Given the description of an element on the screen output the (x, y) to click on. 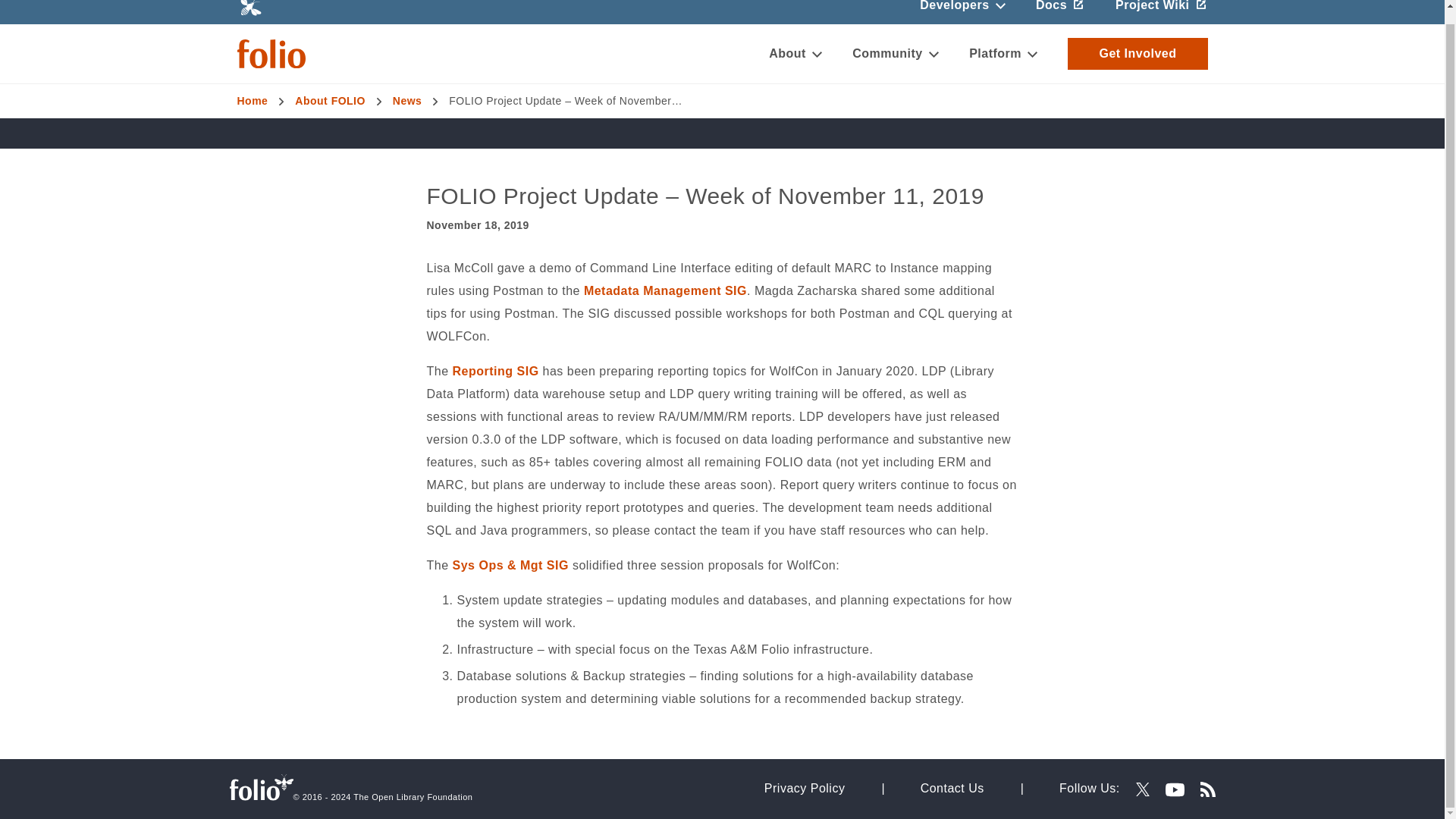
Developers (962, 12)
Twitter (1142, 789)
About (795, 53)
Get Involved (1137, 53)
Community (895, 53)
YouTube (1175, 789)
Platform (1002, 53)
RSS feed (1206, 789)
Syndicate this site using RSS (1201, 788)
Twitter (1142, 789)
